Given the description of an element on the screen output the (x, y) to click on. 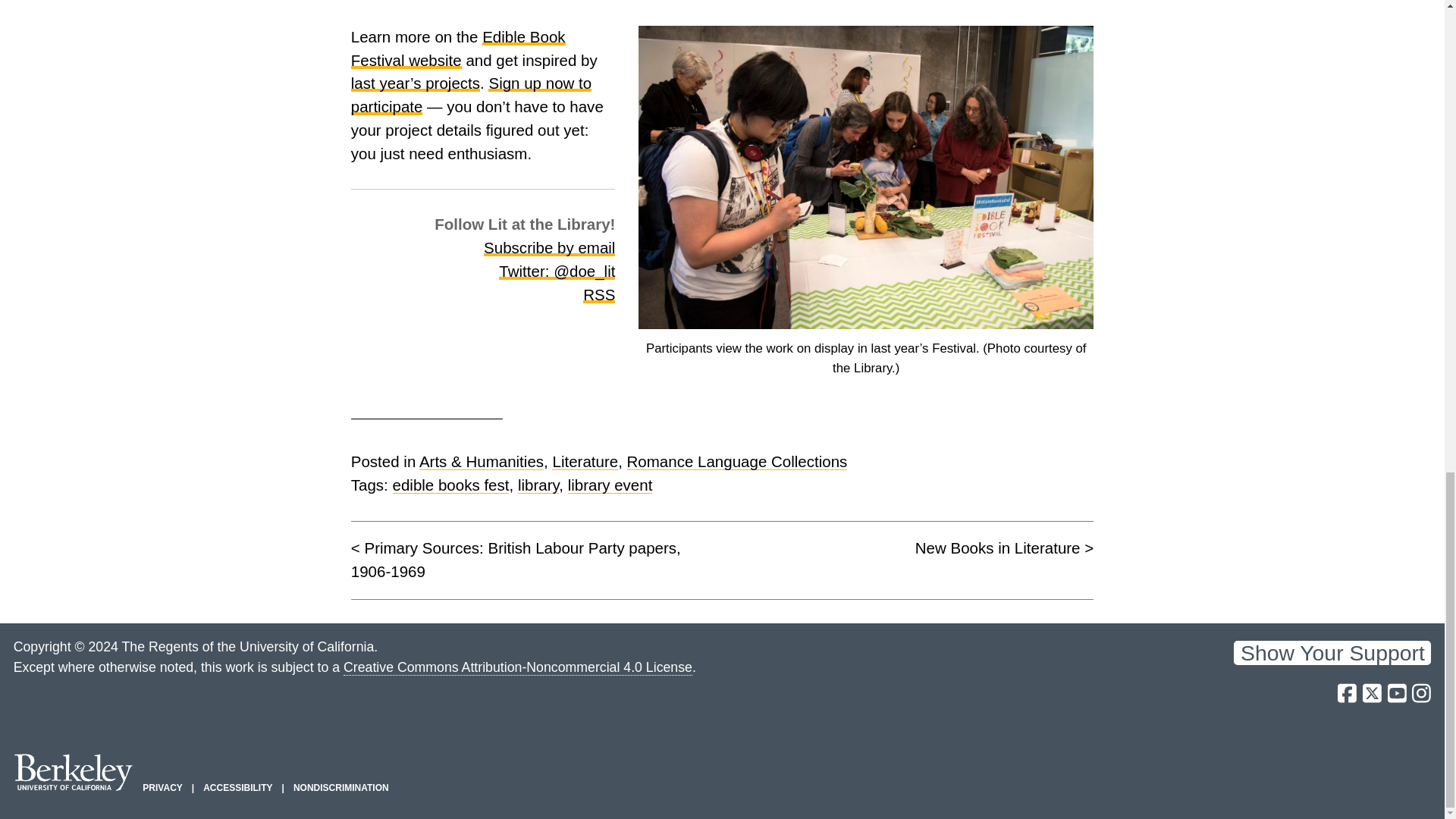
Edible Book Festival website (458, 47)
